Given the description of an element on the screen output the (x, y) to click on. 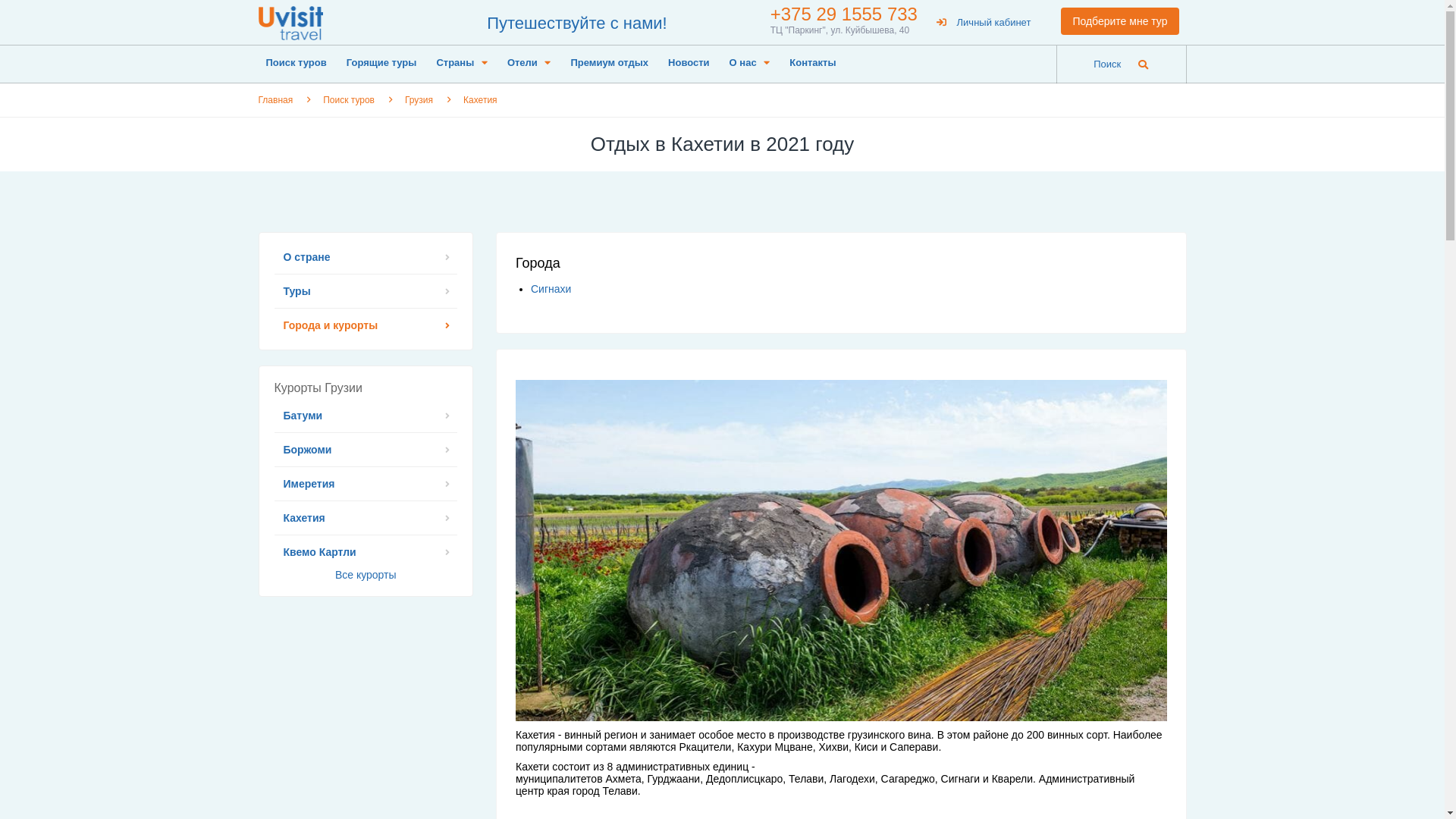
+375 29 1555 733 Element type: text (843, 13)
